Given the description of an element on the screen output the (x, y) to click on. 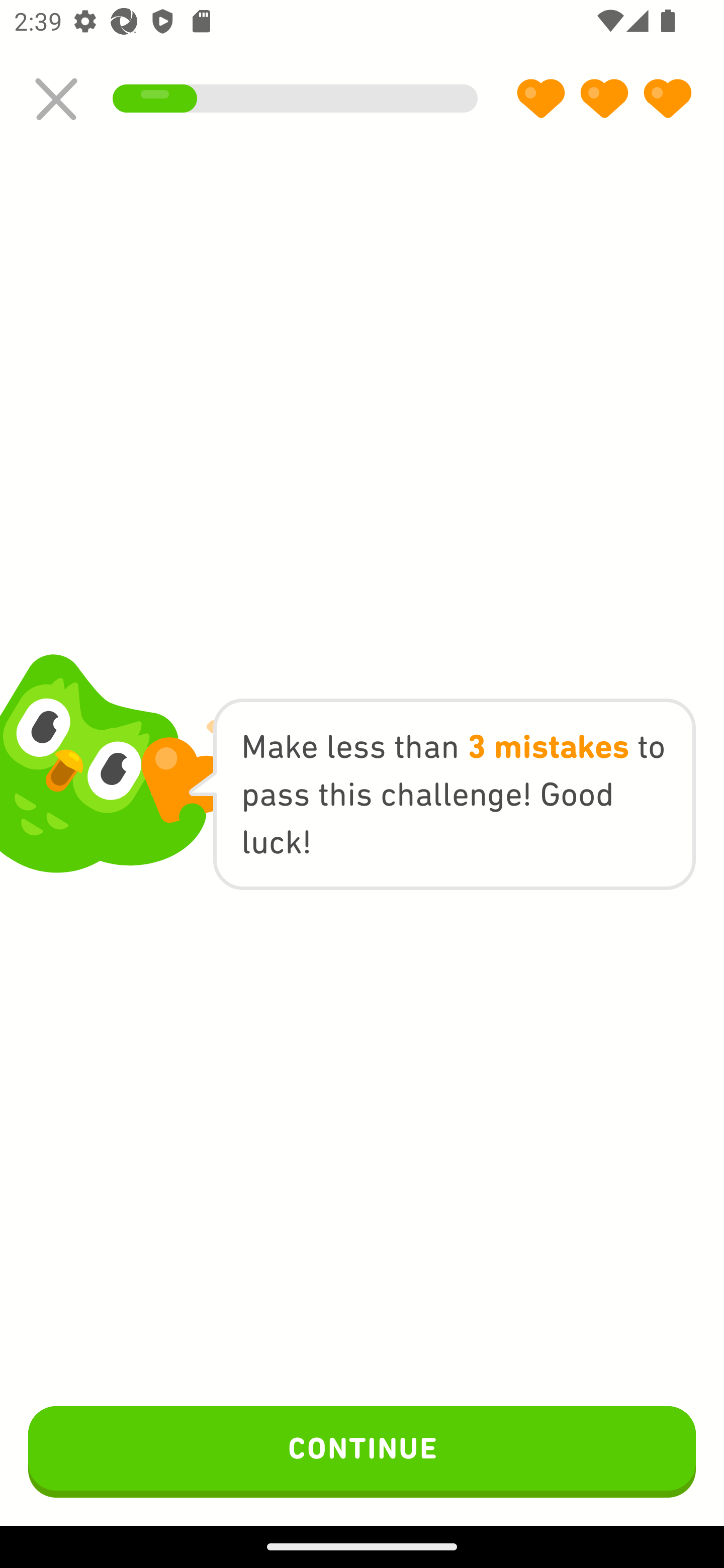
CONTINUE (361, 1451)
